Given the description of an element on the screen output the (x, y) to click on. 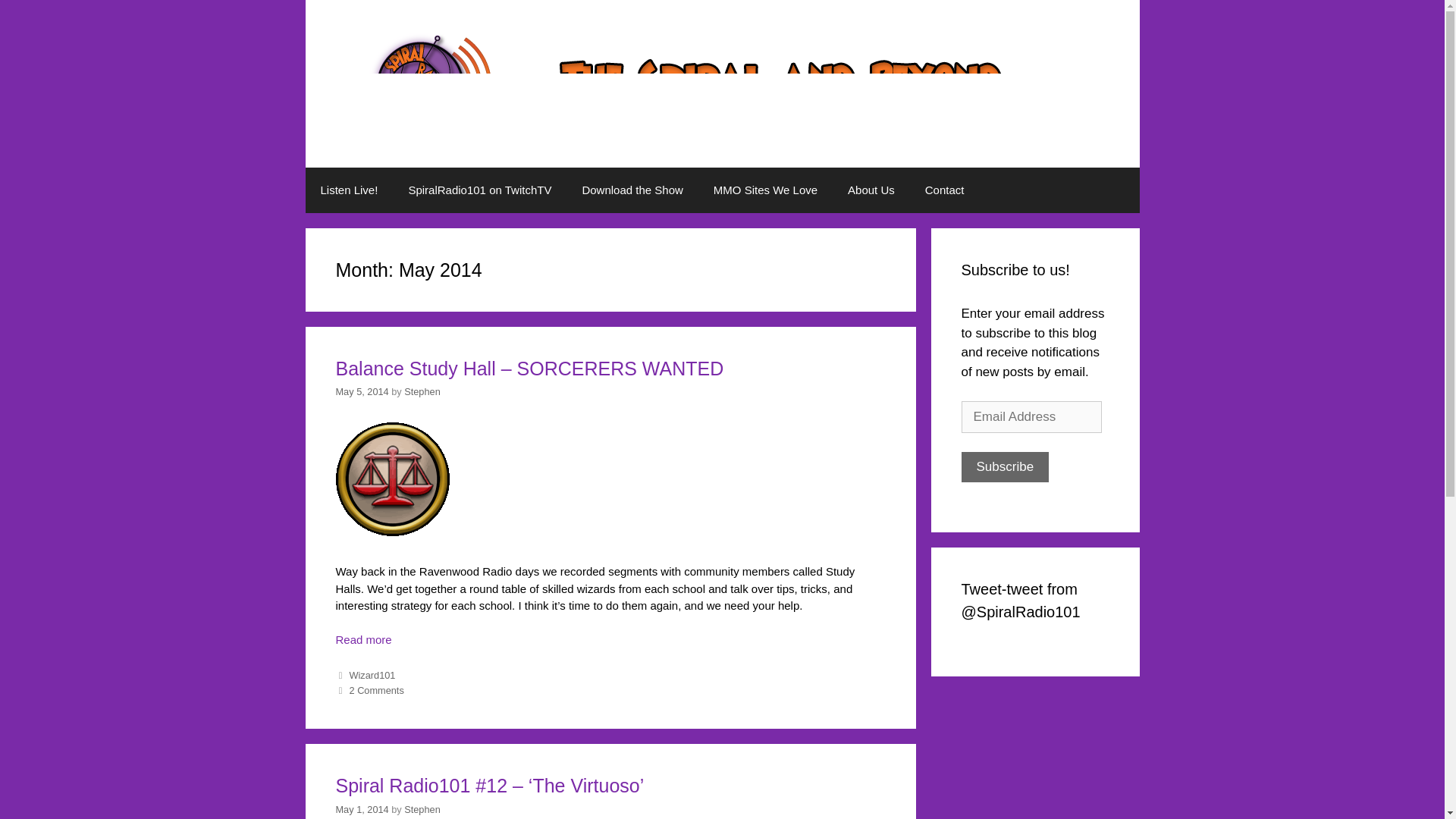
Read more (609, 641)
About Us (871, 189)
Listen Live! (348, 189)
SpiralRadio101 on TwitchTV (479, 189)
Stephen (422, 391)
Spiral Radio 101 (721, 82)
6:06 pm (361, 391)
10:04 pm (361, 808)
MMO Sites We Love (765, 189)
May 5, 2014 (361, 391)
